Given the description of an element on the screen output the (x, y) to click on. 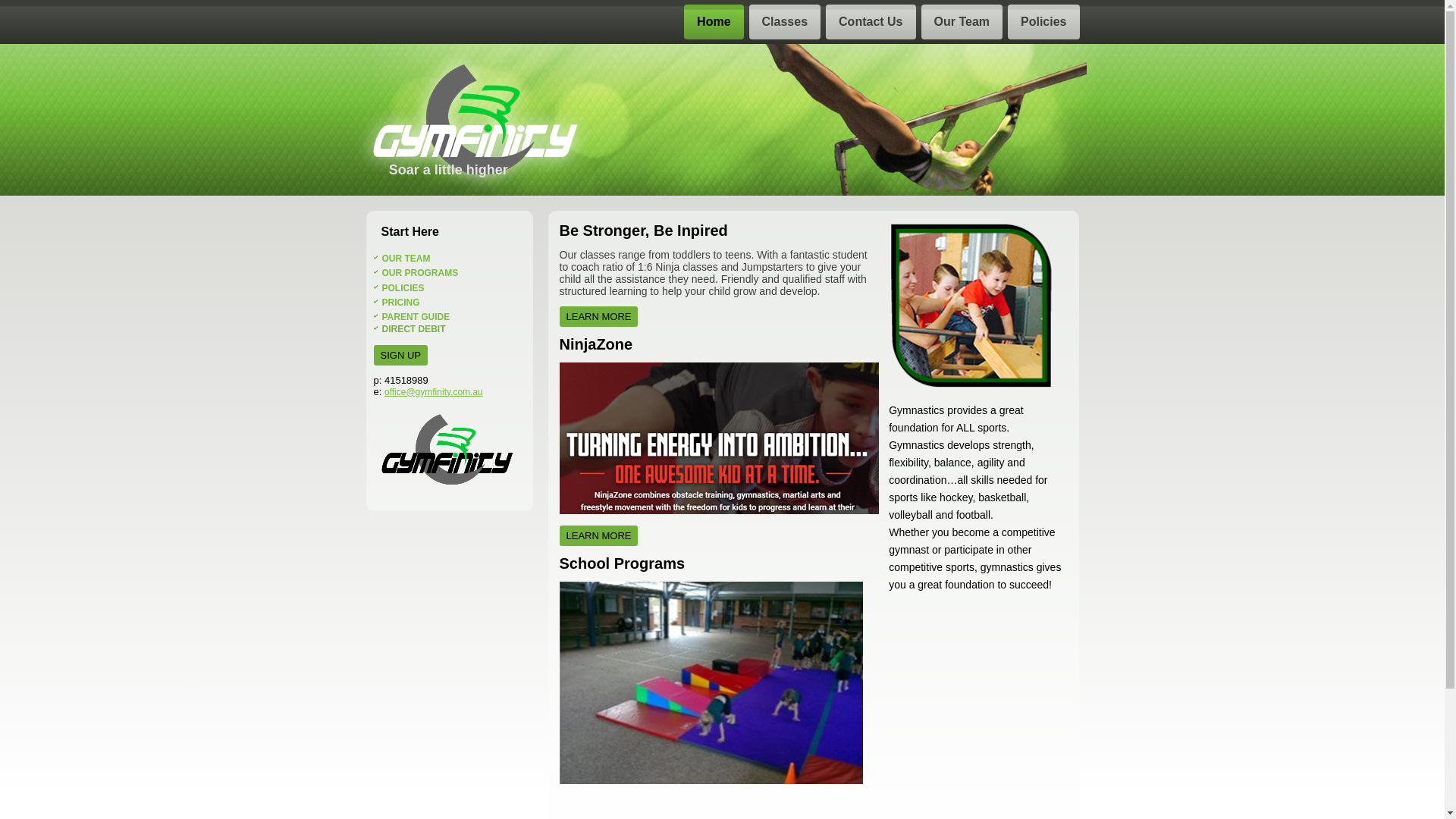
DIRECT DEBIT Element type: text (413, 328)
POLICIES Element type: text (403, 287)
LEARN MORE Element type: text (598, 535)
OUR PROGRAMS Element type: text (420, 272)
SIGN UP Element type: text (399, 354)
PRICING Element type: text (401, 302)
Our Team Element type: text (962, 21)
Classes Element type: text (785, 21)
Home Element type: text (713, 21)
Contact Us Element type: text (870, 21)
office@gymfinity.com.au Element type: text (433, 391)
LEARN MORE Element type: text (598, 316)
OUR TEAM Element type: text (406, 258)
PARENT GUIDE Element type: text (416, 316)
Policies Element type: text (1043, 21)
